Given the description of an element on the screen output the (x, y) to click on. 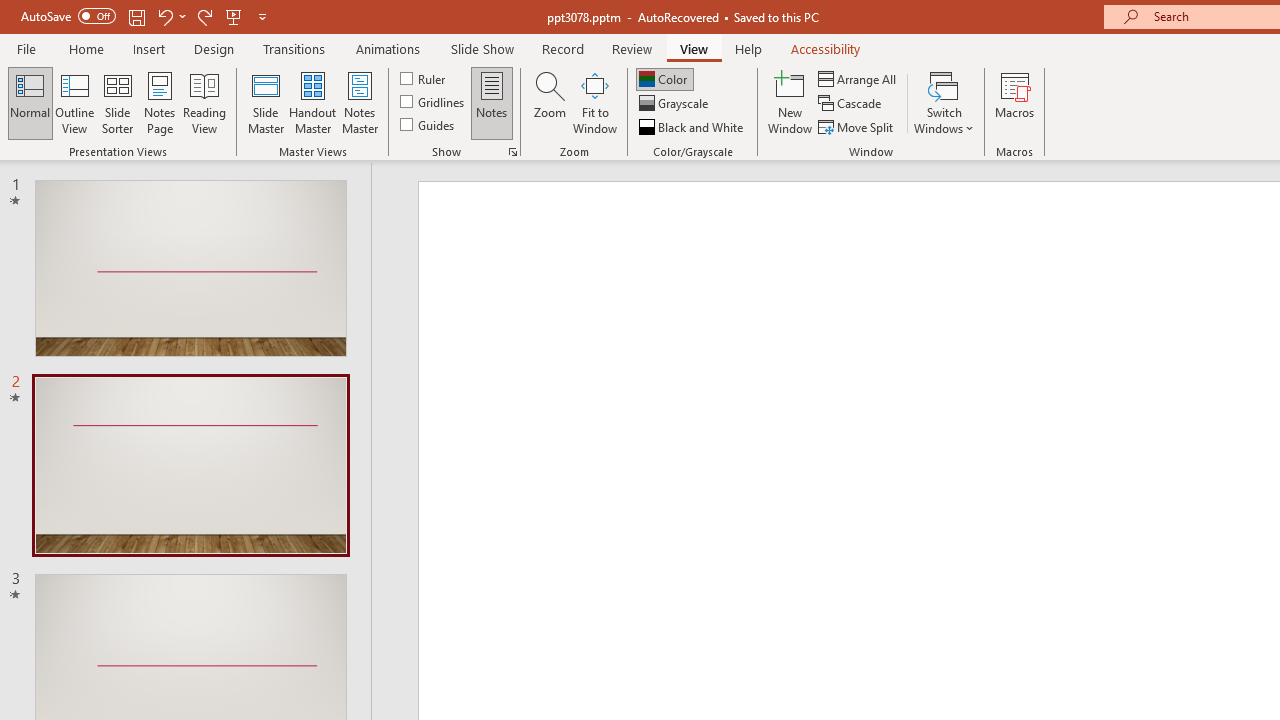
Outline View (74, 102)
Cascade (851, 103)
